Given the description of an element on the screen output the (x, y) to click on. 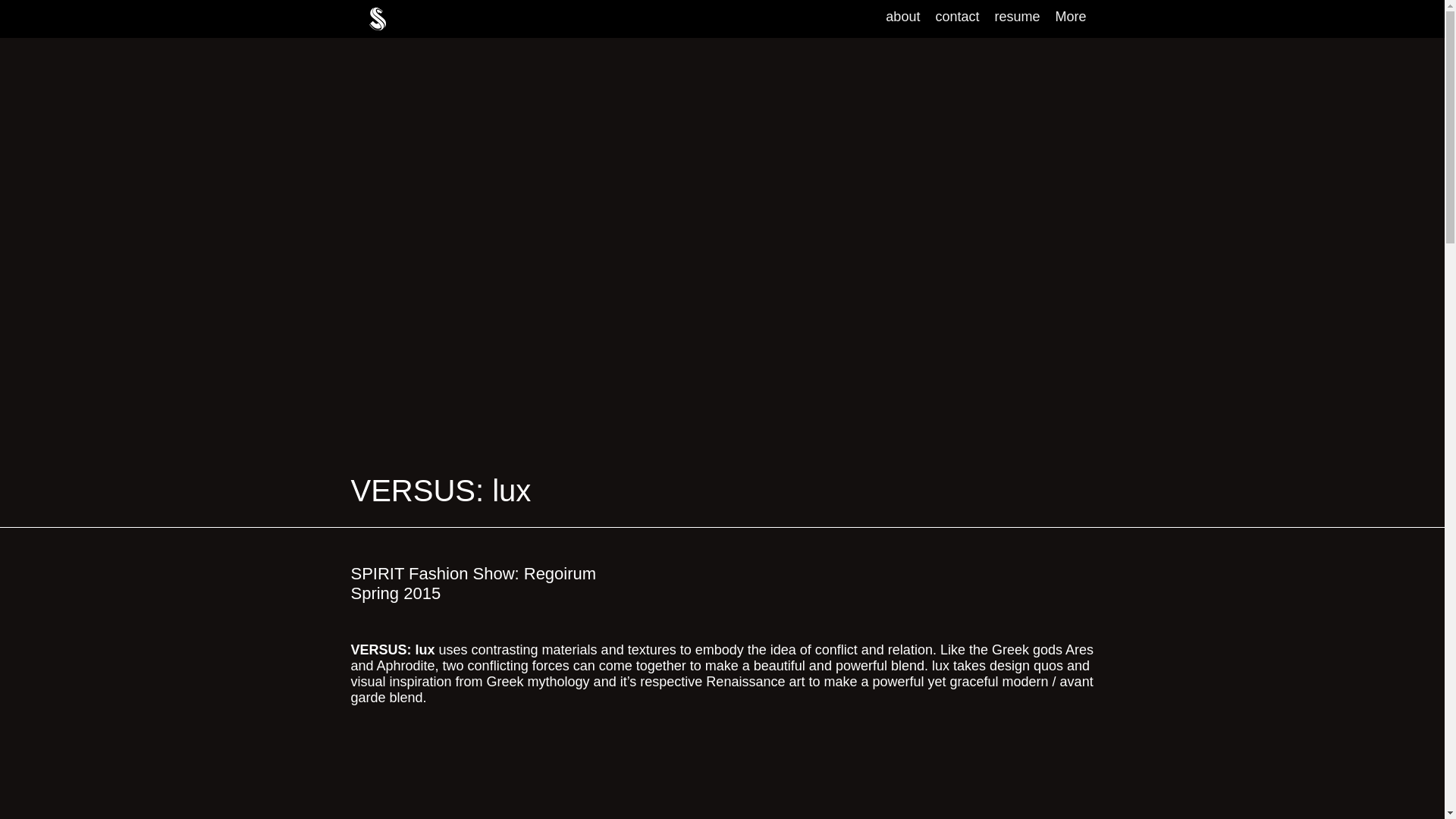
contact (957, 18)
about (902, 18)
resume (1016, 18)
